Given the description of an element on the screen output the (x, y) to click on. 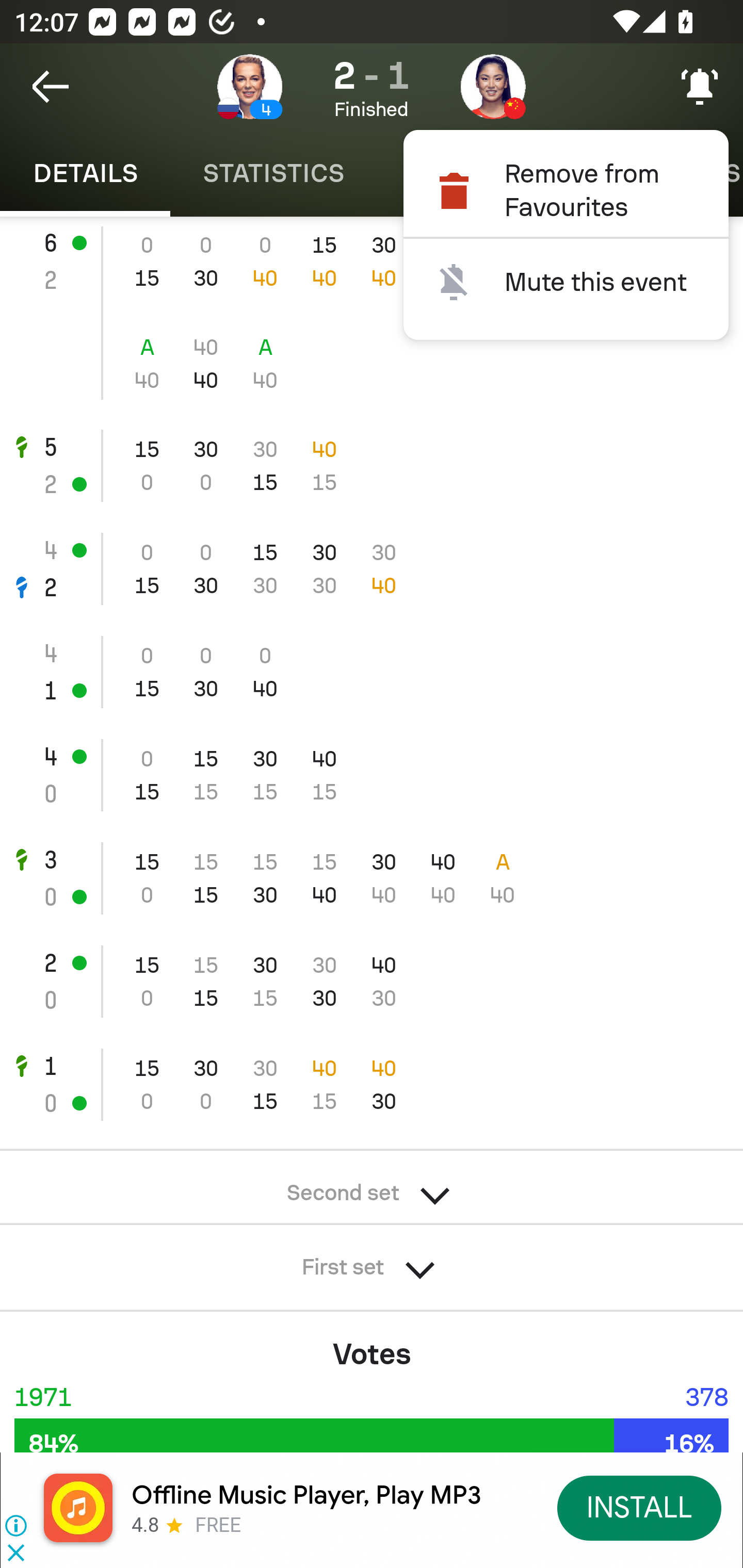
Remove from Favourites (565, 190)
Mute this event (565, 282)
